Given the description of an element on the screen output the (x, y) to click on. 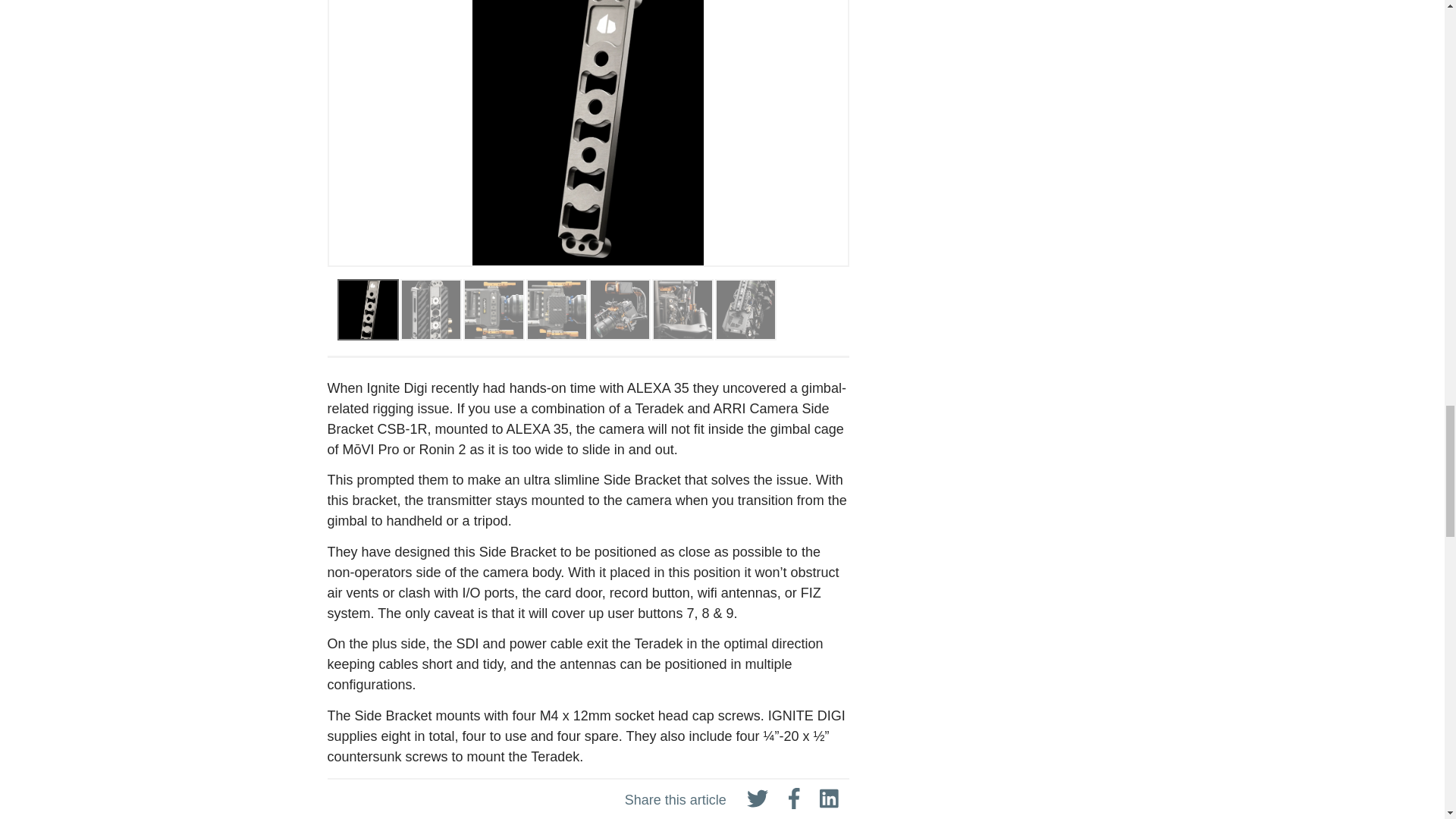
3rd party ad content (1018, 66)
